Given the description of an element on the screen output the (x, y) to click on. 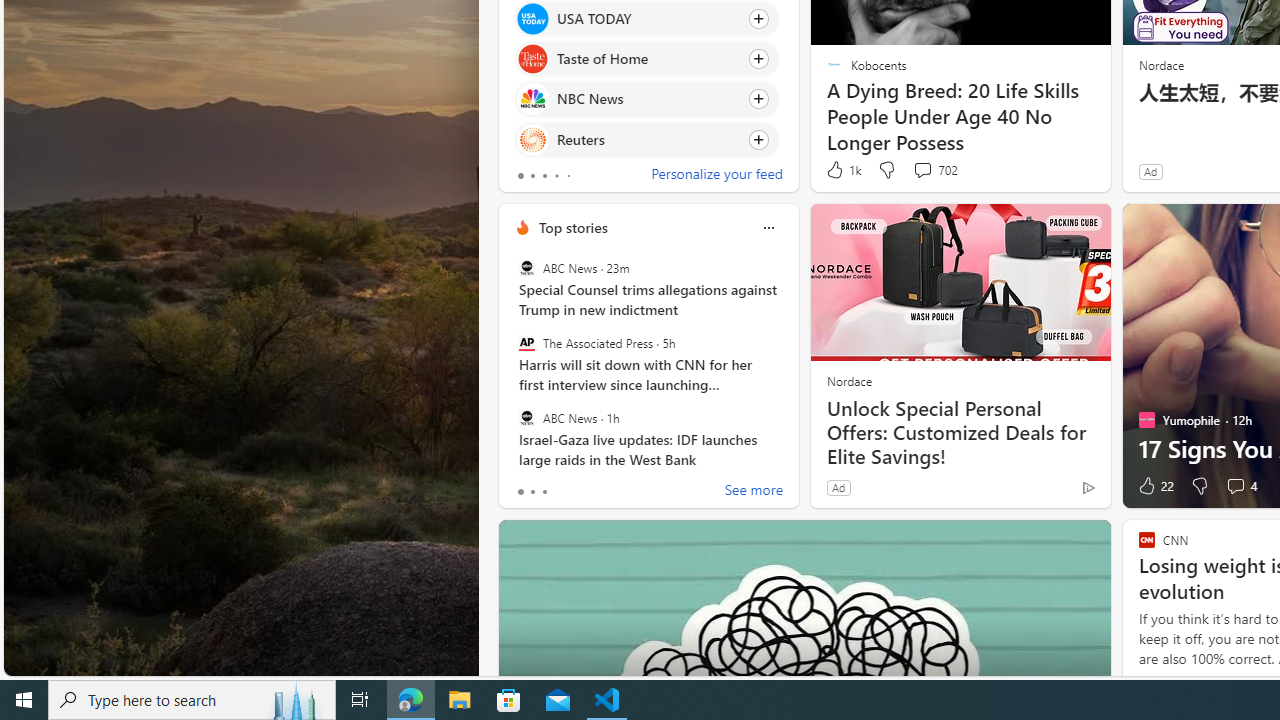
Personalize your feed (716, 175)
The Associated Press (526, 343)
ABC News (526, 417)
Click to follow source Reuters (646, 138)
tab-4 (567, 175)
Click to follow source NBC News (646, 99)
View comments 702 Comment (922, 169)
Click to follow source Taste of Home (646, 59)
Top stories (572, 227)
View comments 4 Comment (1240, 485)
